Given the description of an element on the screen output the (x, y) to click on. 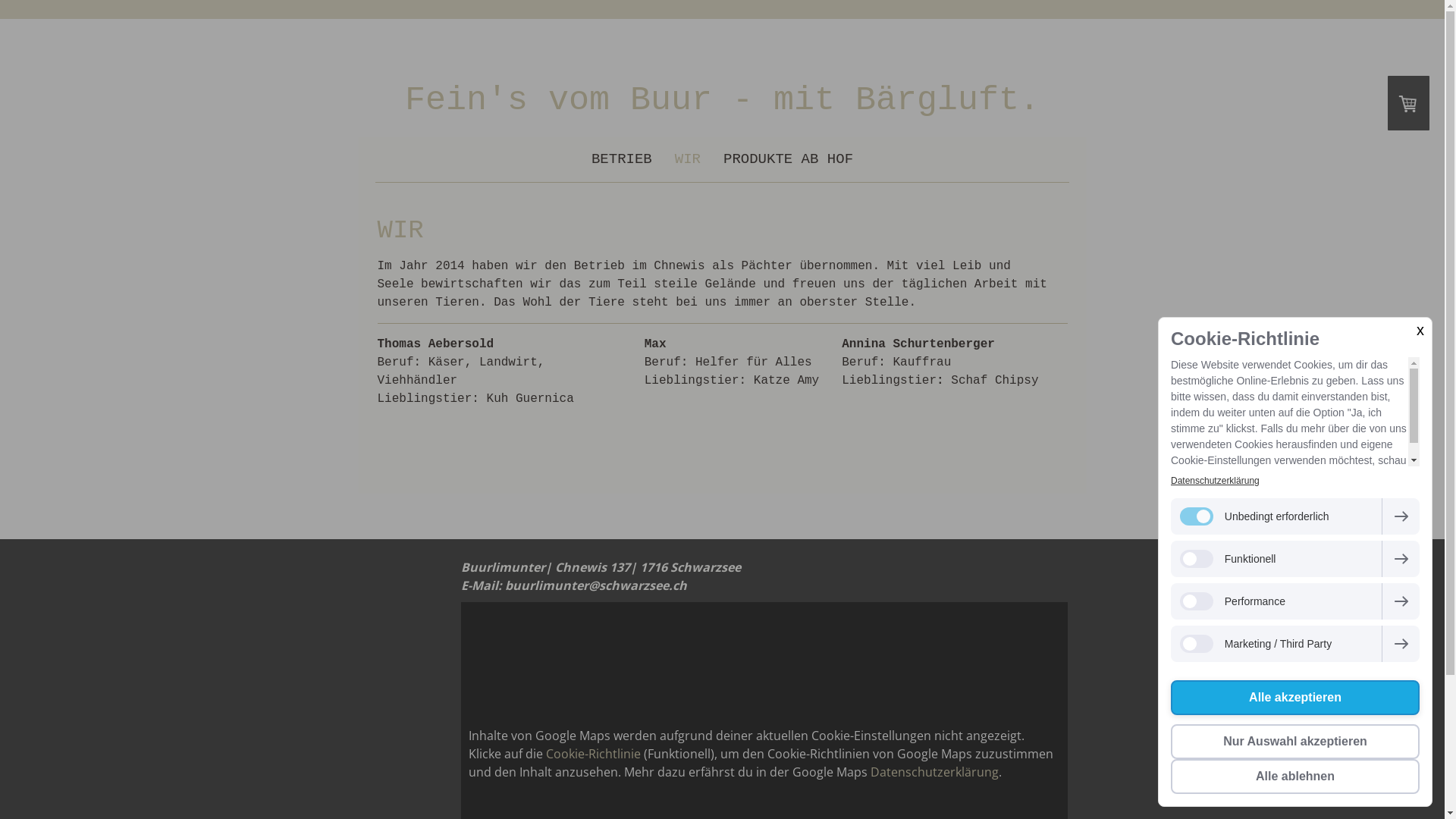
BETRIEB Element type: text (621, 159)
Nur Auswahl akzeptieren Element type: text (1294, 741)
Cookie-Richtlinie Element type: text (593, 753)
PRODUKTE AB HOF Element type: text (788, 159)
Alle ablehnen Element type: text (1294, 776)
WIR Element type: text (687, 159)
Alle akzeptieren Element type: text (1294, 697)
